Given the description of an element on the screen output the (x, y) to click on. 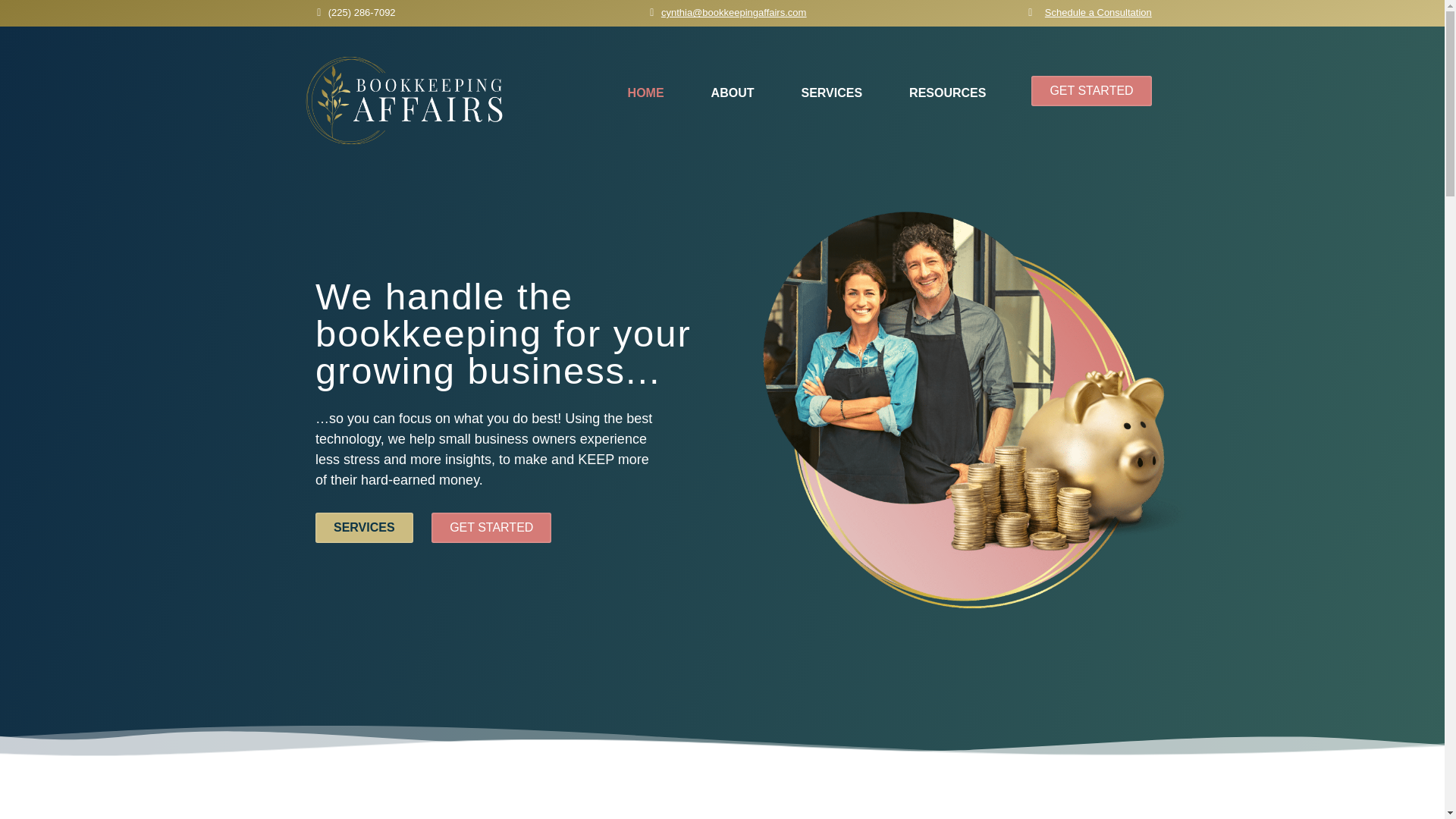
ABOUT (732, 93)
HOME (645, 93)
SERVICES (364, 527)
GET STARTED (1090, 91)
Schedule a Consultation (1098, 12)
GET STARTED (490, 527)
SERVICES (831, 93)
RESOURCES (947, 93)
